Given the description of an element on the screen output the (x, y) to click on. 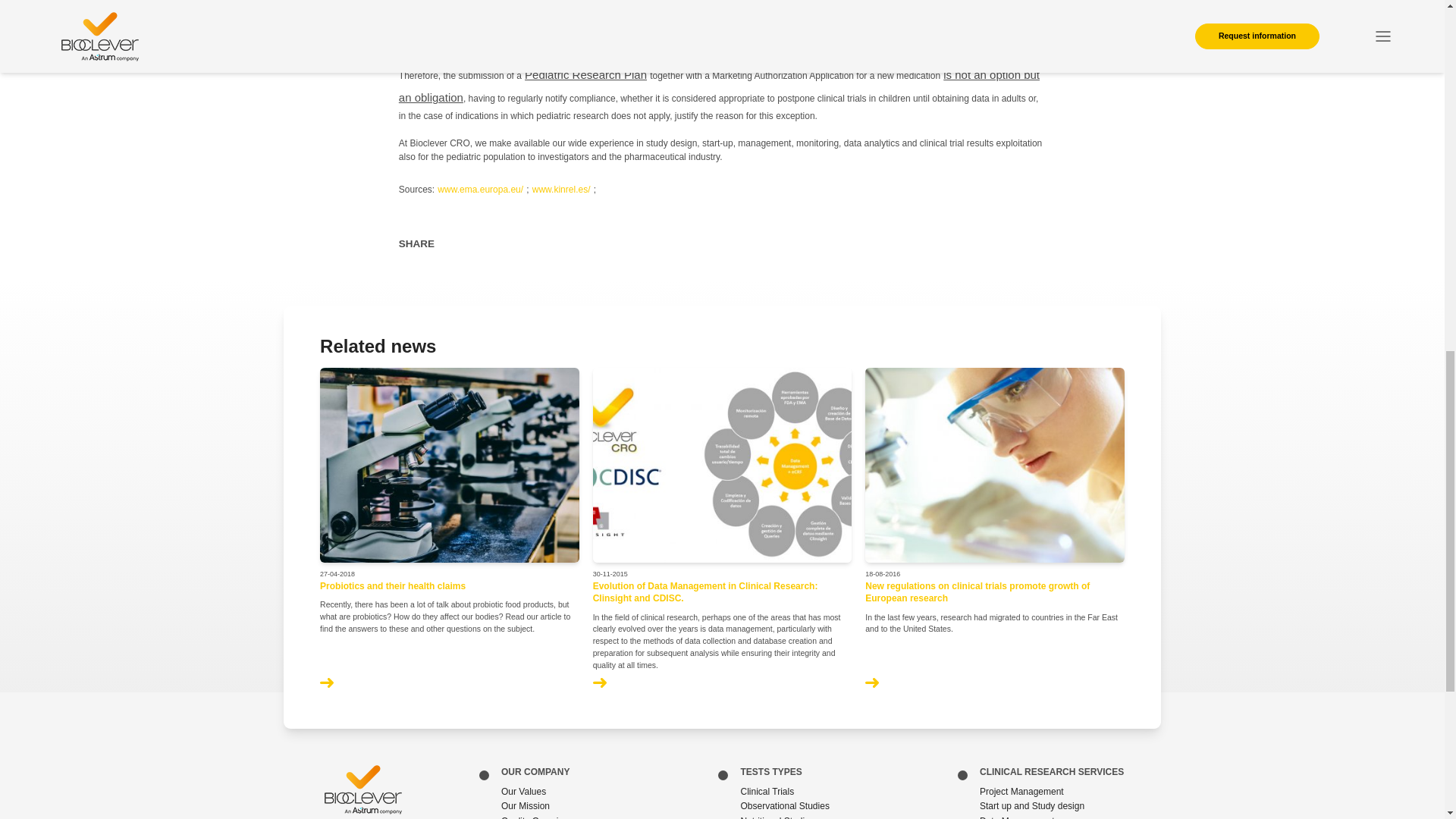
Marketing Authorization for Pediatric Use (821, 16)
Probiotics and their health claims (392, 585)
